Given the description of an element on the screen output the (x, y) to click on. 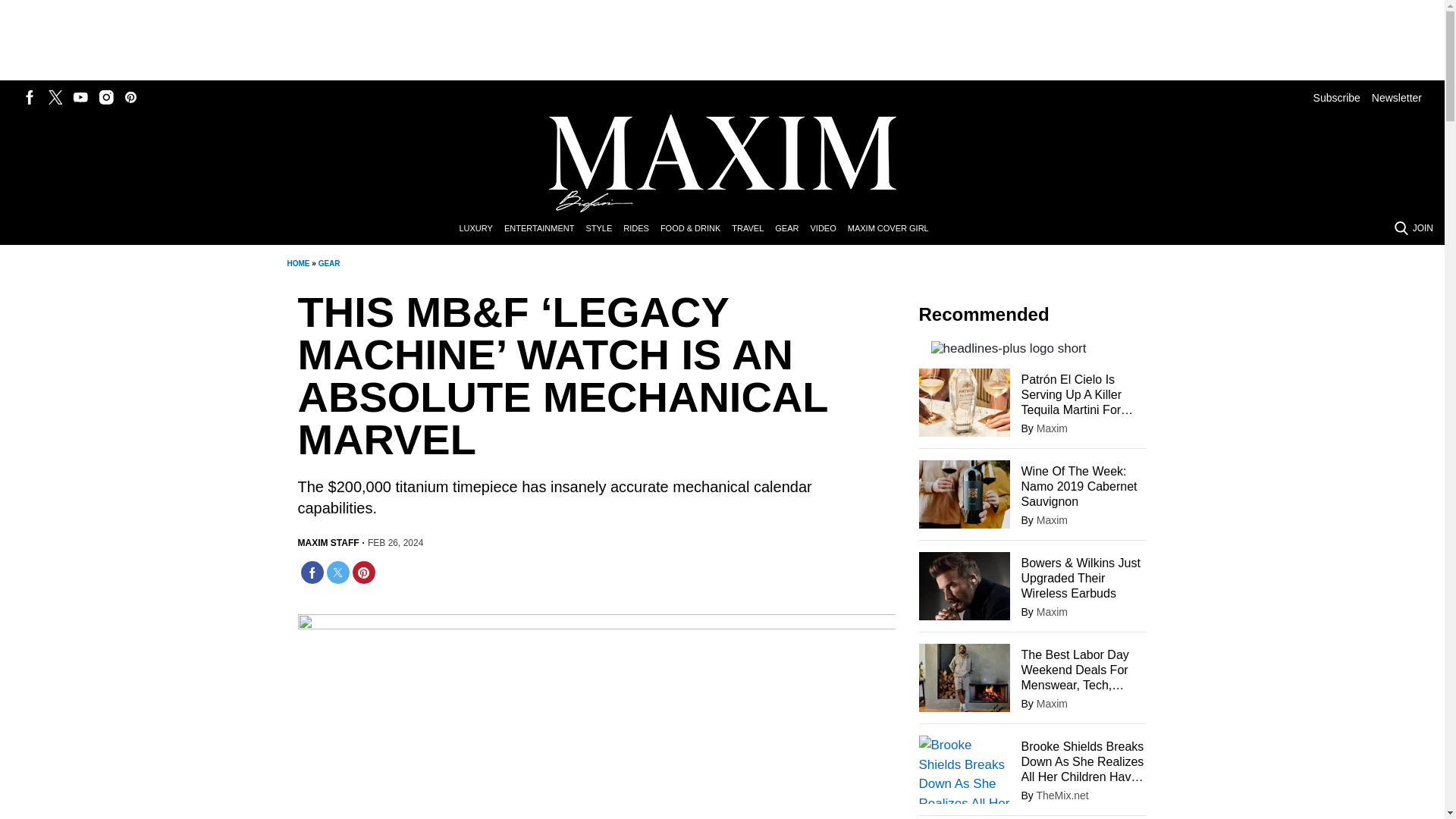
STYLE (604, 228)
GEAR (329, 263)
MAXIM COVER GIRL (893, 228)
Share on Twitter (337, 572)
MAXIM STAFF (327, 543)
Posts by Maxim Staff (327, 543)
GEAR (791, 228)
TRAVEL (753, 228)
Share on Facebook (311, 572)
ENTERTAINMENT (544, 228)
